Given the description of an element on the screen output the (x, y) to click on. 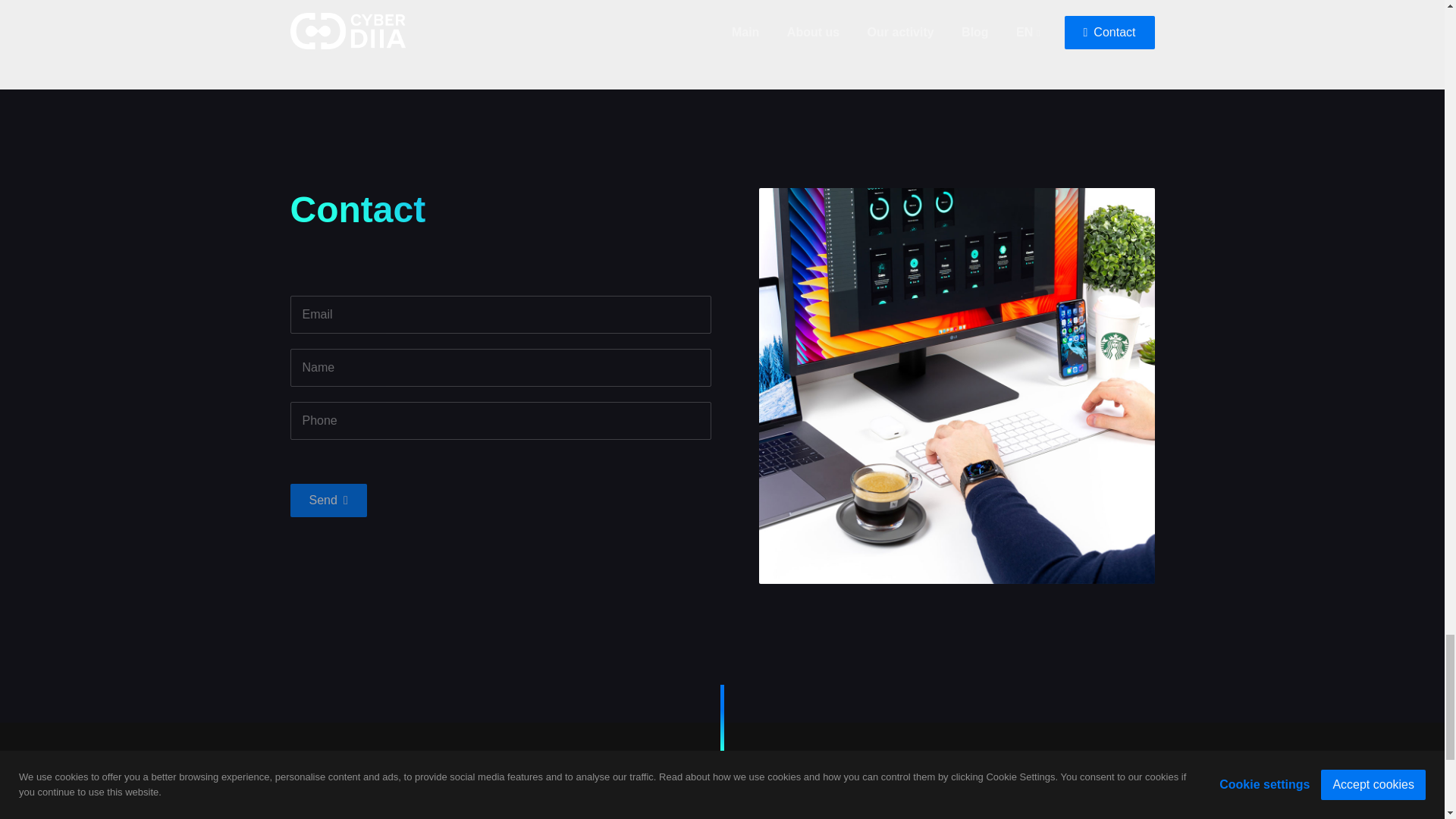
Send (327, 500)
